Given the description of an element on the screen output the (x, y) to click on. 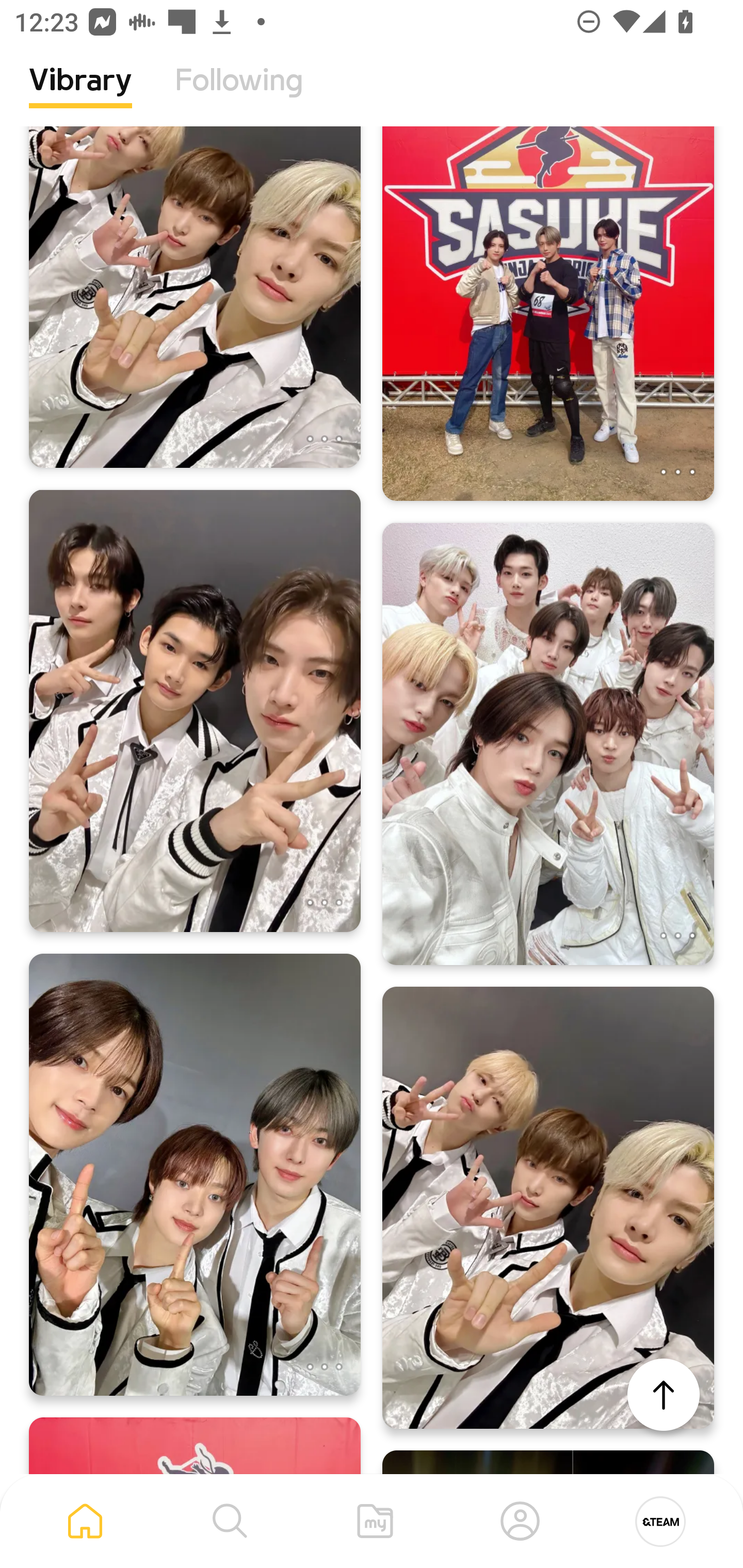
Vibrary (80, 95)
Following (239, 95)
